Given the description of an element on the screen output the (x, y) to click on. 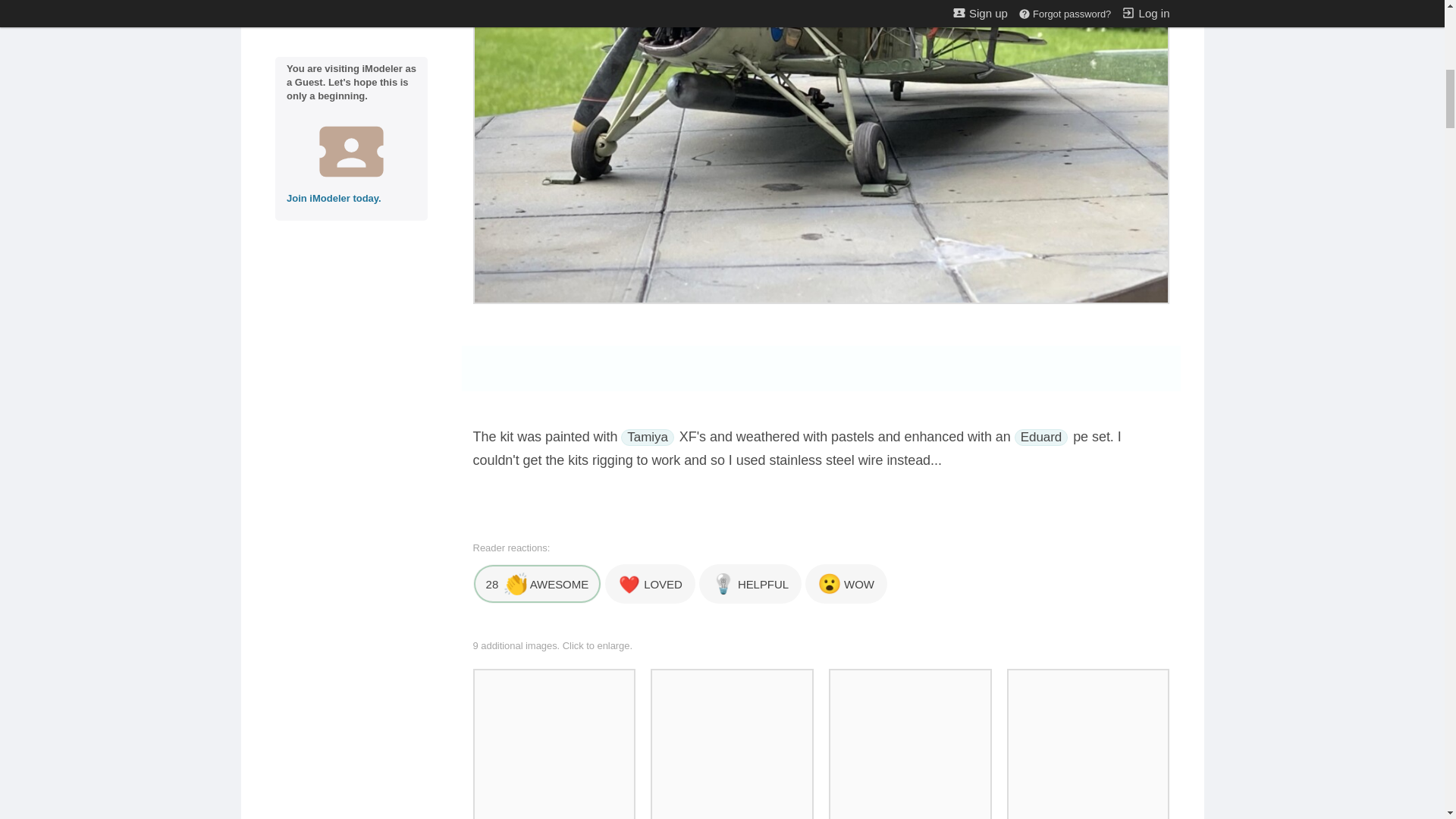
HELPFUL (750, 583)
Eduard (1041, 437)
LOVED (650, 583)
I'm fond of this (650, 583)
Amazing! (845, 583)
Click for the Eduard database at iModeler (1041, 437)
WOW (845, 583)
Tamiya (647, 437)
I learned something! (750, 583)
Click for the Tamiya database at iModeler (647, 437)
28  AWESOME (537, 583)
Great effort! (537, 583)
